Given the description of an element on the screen output the (x, y) to click on. 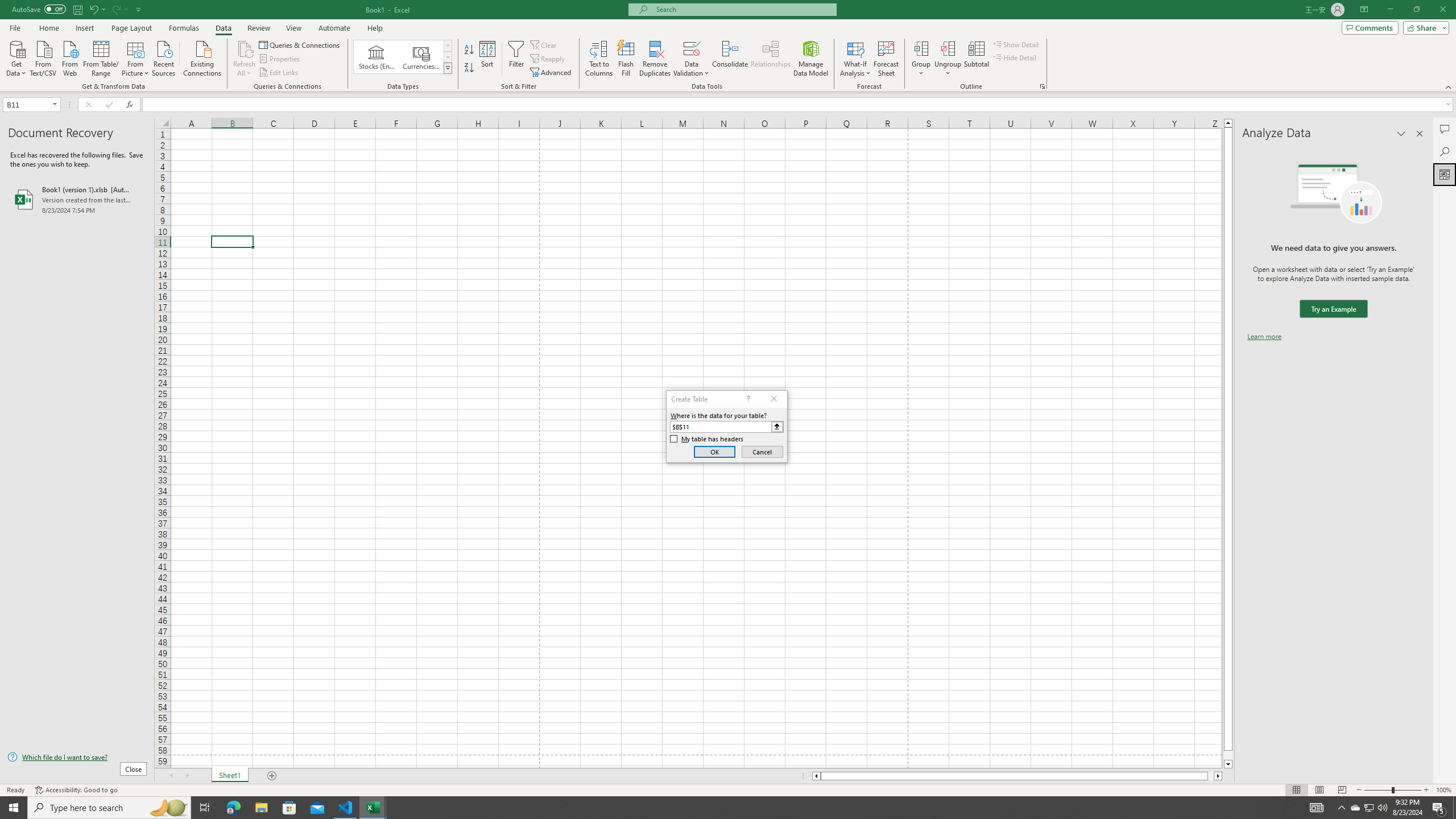
Flash Fill (625, 58)
Edit Links (279, 72)
Manage Data Model (810, 58)
Stocks (English) (375, 56)
